Given the description of an element on the screen output the (x, y) to click on. 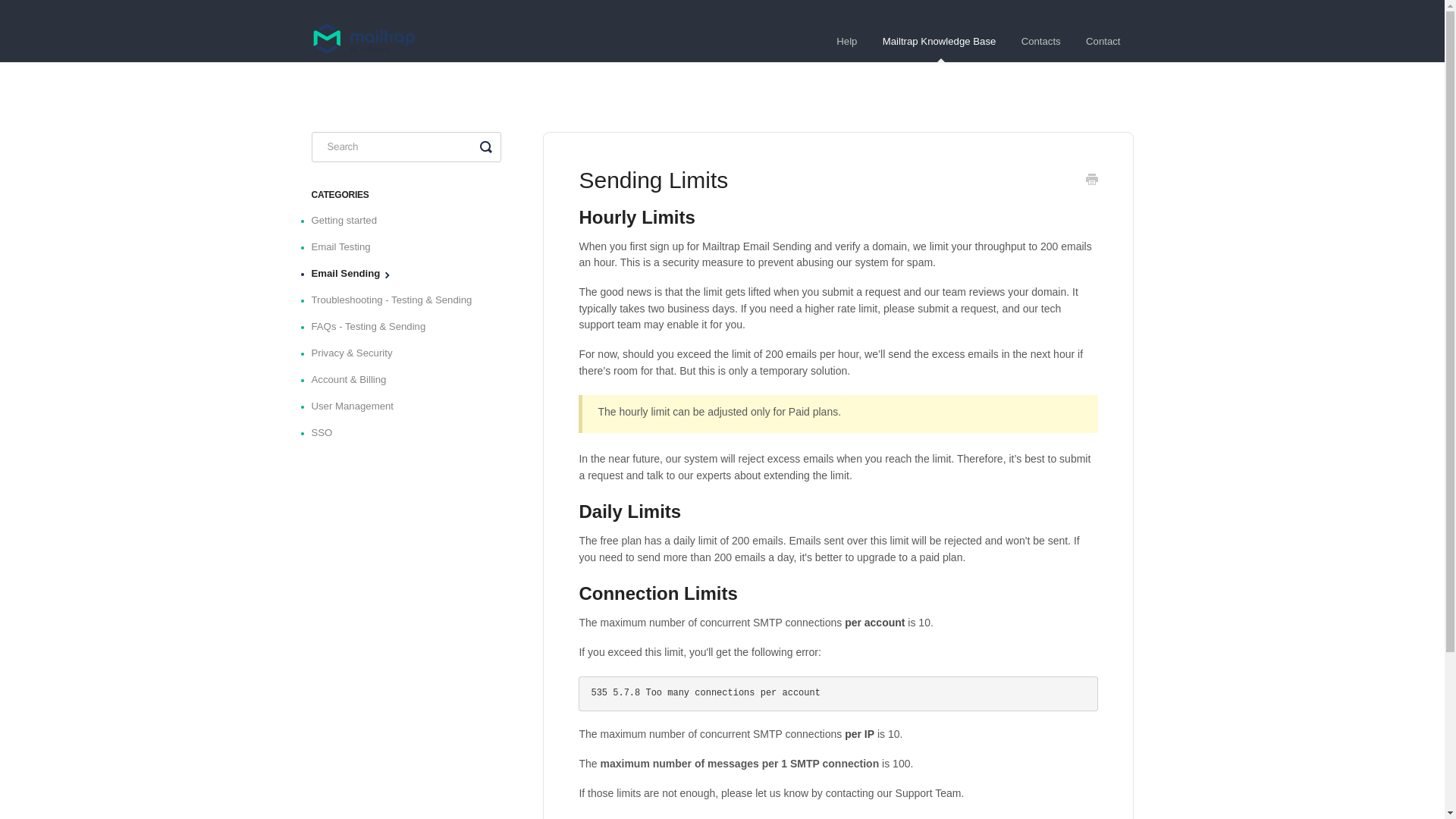
search-query (405, 146)
User Management (357, 405)
Getting started (349, 220)
Contacts (1040, 41)
SSO (327, 432)
Help (846, 41)
Email Testing (346, 247)
Email Sending (351, 273)
Mailtrap Knowledge Base (938, 41)
Contact (1102, 41)
